Given the description of an element on the screen output the (x, y) to click on. 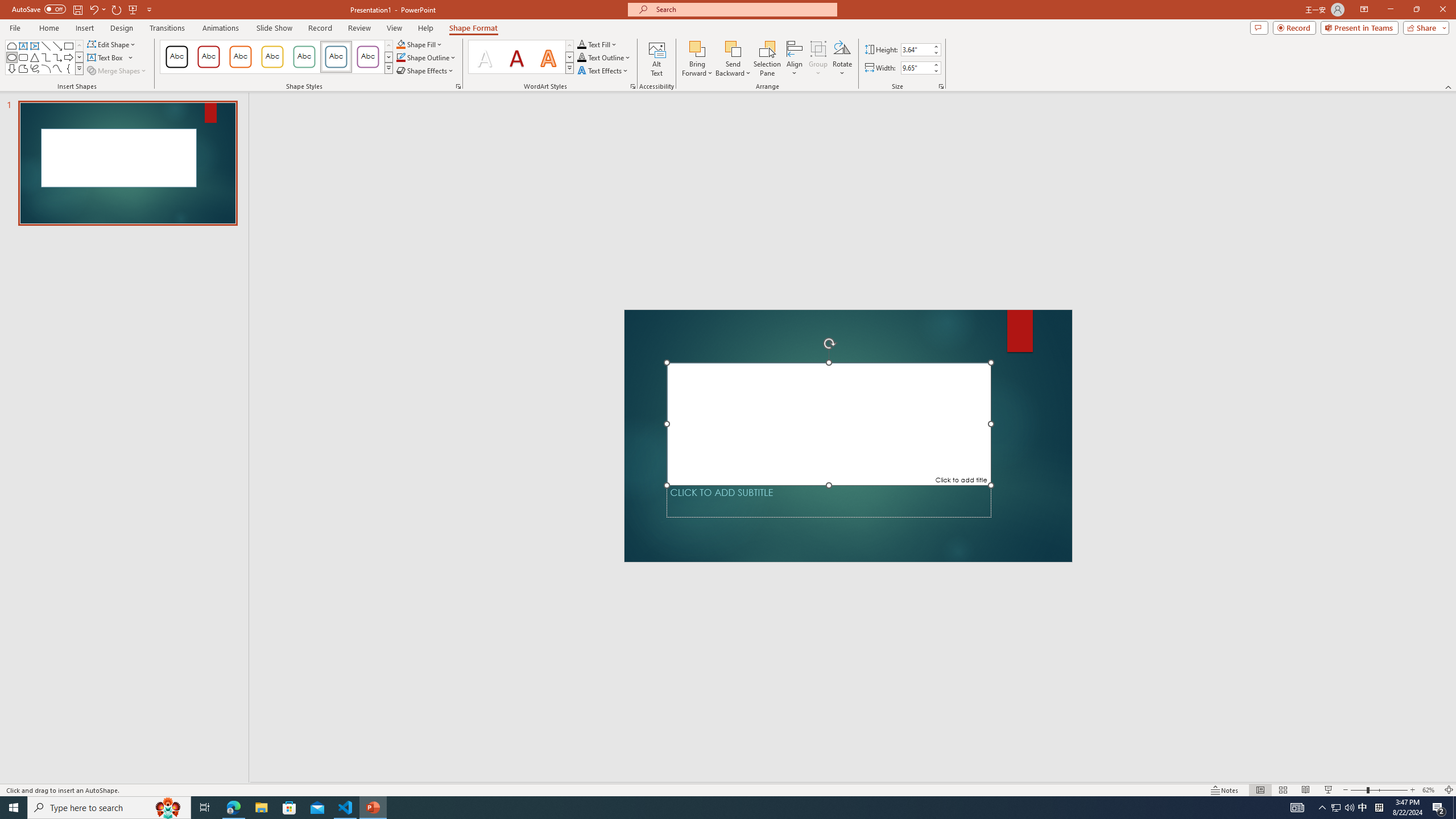
Colored Outline - Gold, Accent 3 (272, 56)
Bring Forward (697, 58)
Size and Position... (941, 85)
